Given the description of an element on the screen output the (x, y) to click on. 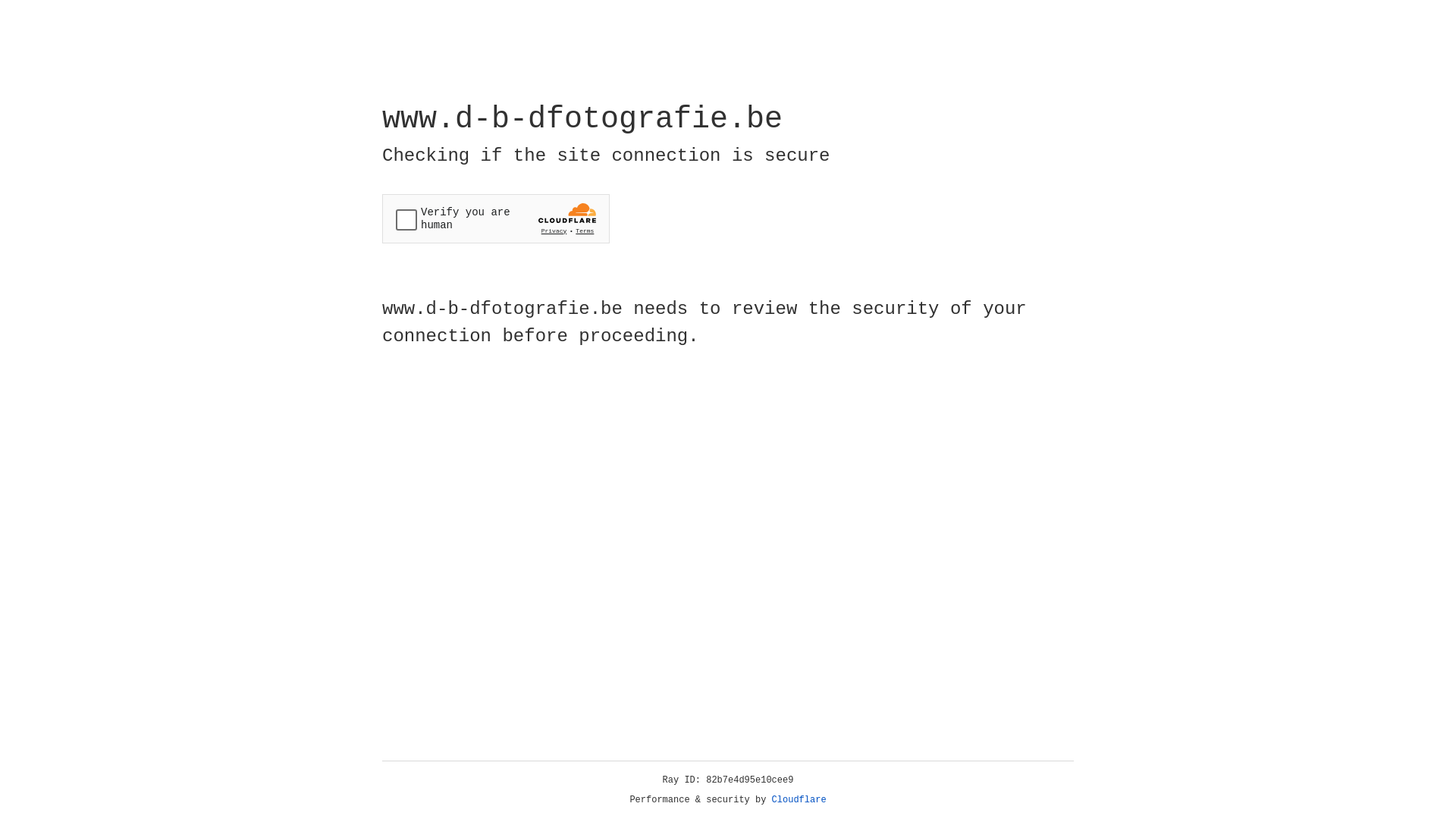
Widget containing a Cloudflare security challenge Element type: hover (495, 218)
Cloudflare Element type: text (798, 799)
